Given the description of an element on the screen output the (x, y) to click on. 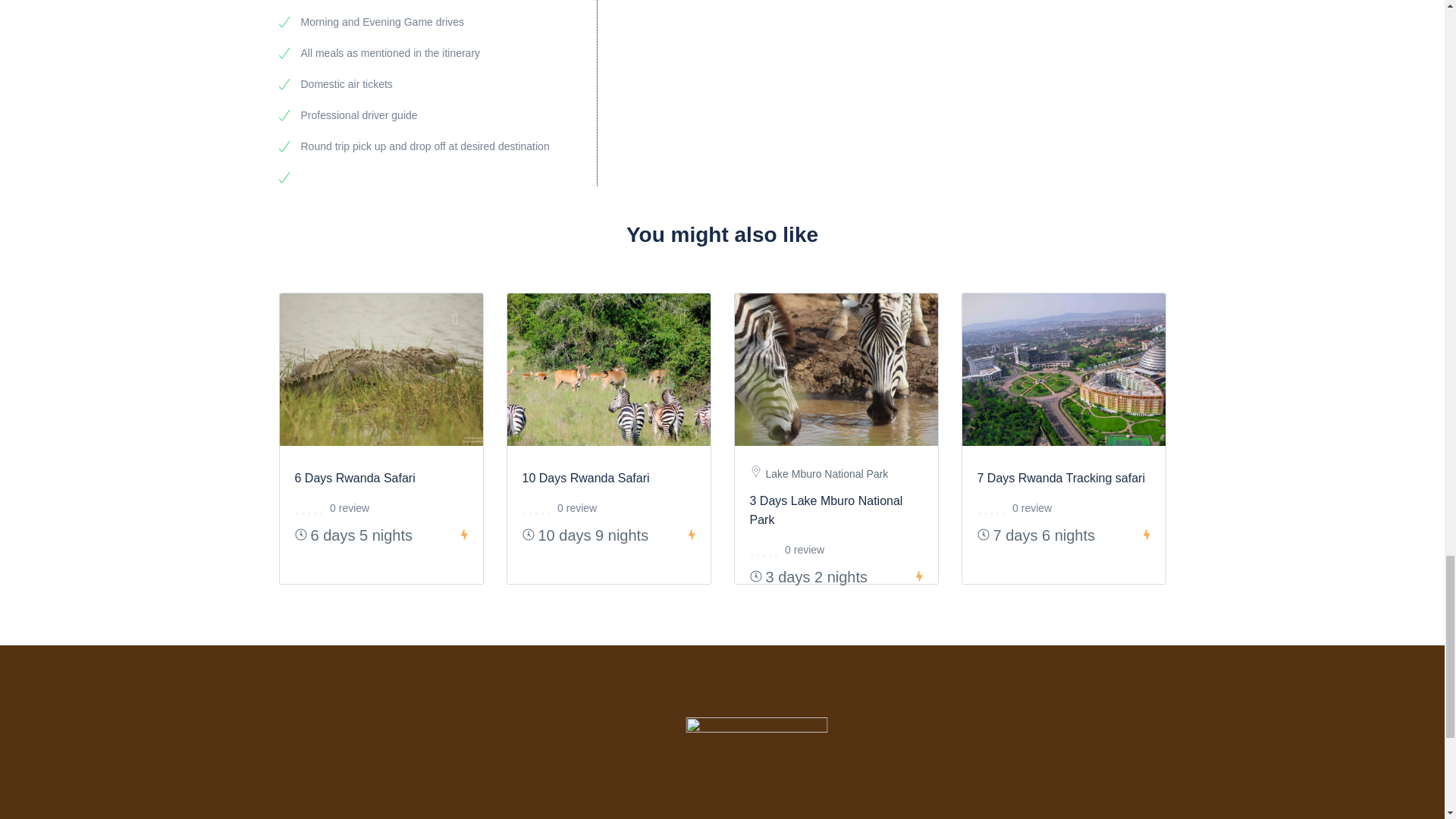
Add to wishlist (690, 318)
Add to wishlist (918, 318)
Add to wishlist (462, 318)
Add to wishlist (1145, 318)
